Given the description of an element on the screen output the (x, y) to click on. 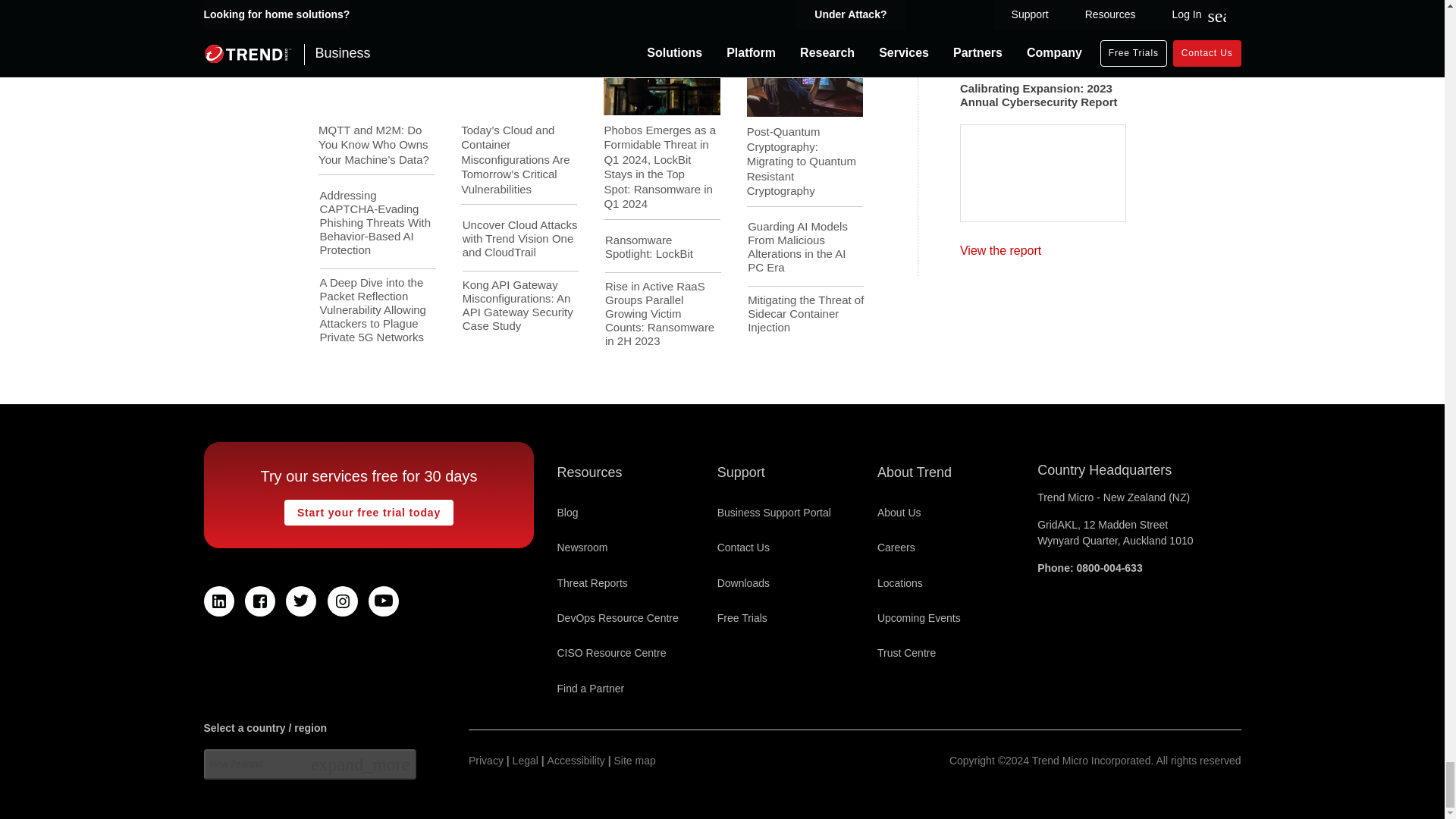
Legal (525, 760)
privacy (485, 760)
Site map (635, 760)
Accessibility (576, 760)
